Given the description of an element on the screen output the (x, y) to click on. 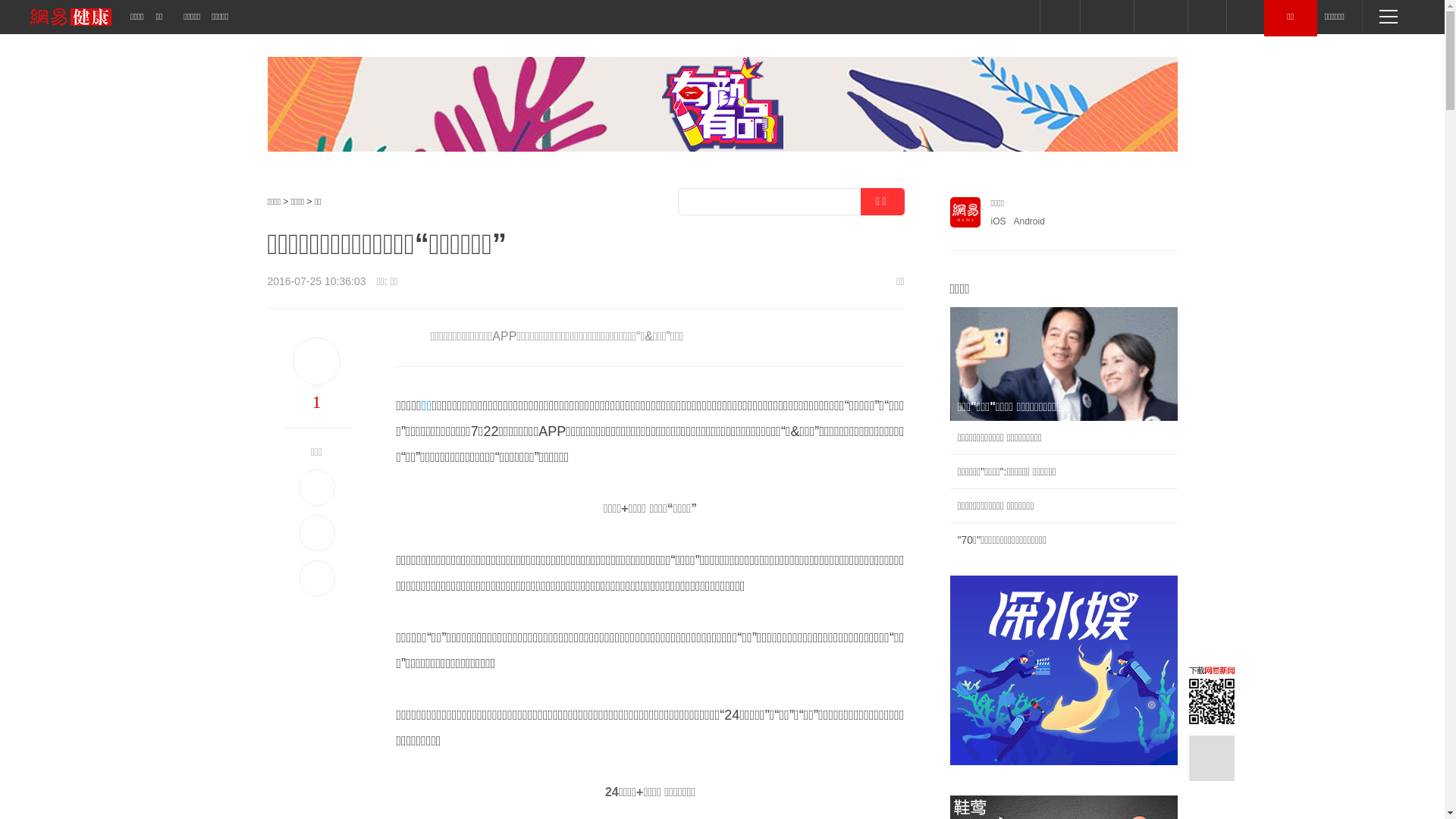
1 Element type: text (315, 401)
